Given the description of an element on the screen output the (x, y) to click on. 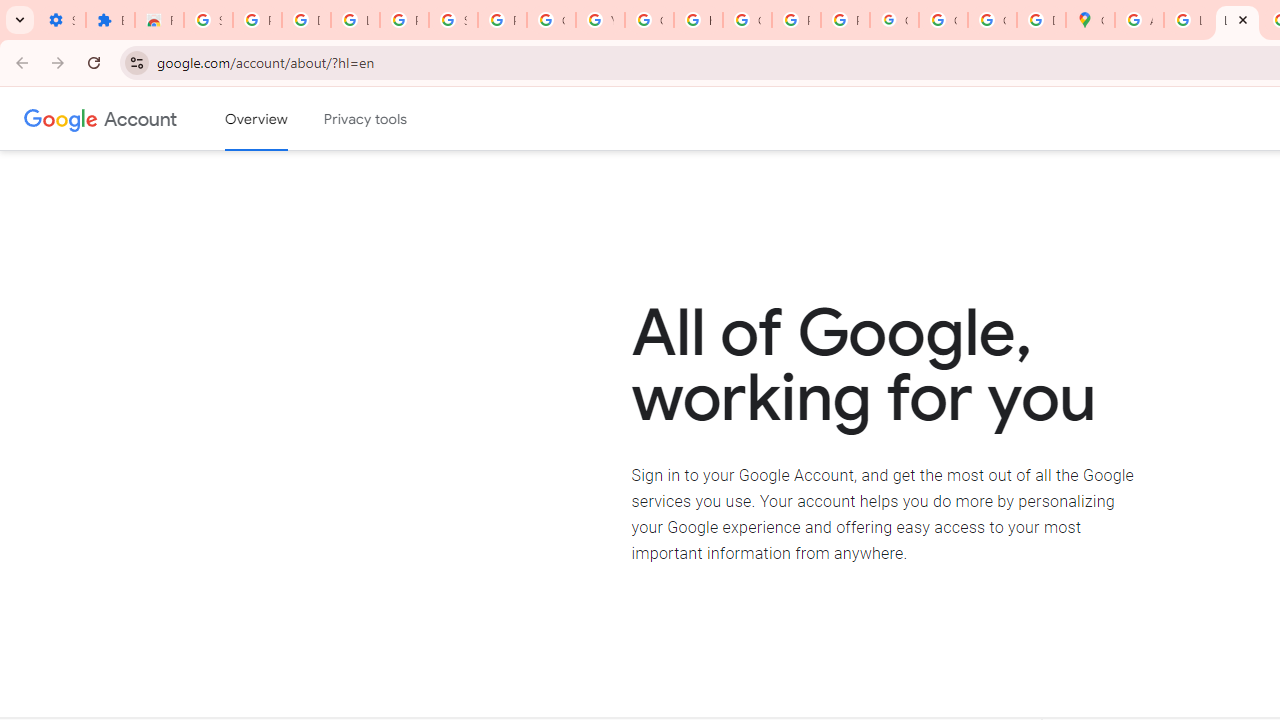
YouTube (600, 20)
Settings - On startup (61, 20)
https://scholar.google.com/ (698, 20)
Google Account (140, 118)
Reviews: Helix Fruit Jump Arcade Game (159, 20)
Sign in - Google Accounts (208, 20)
